Given the description of an element on the screen output the (x, y) to click on. 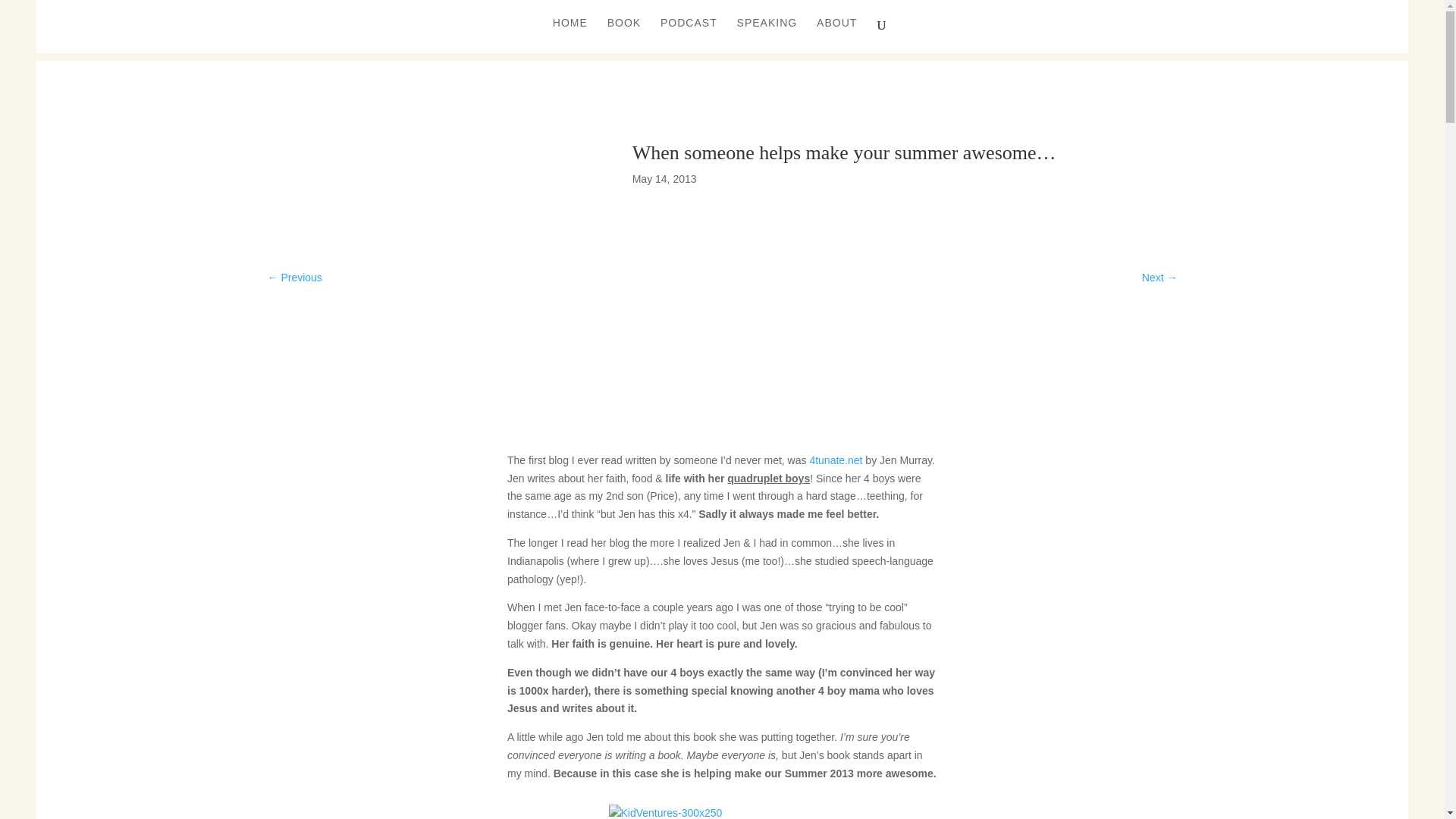
PODCAST (689, 35)
ABOUT (836, 35)
BOOK (623, 35)
4tunate (835, 460)
SPEAKING (766, 35)
HOME (570, 35)
4tunate.net (835, 460)
